Given the description of an element on the screen output the (x, y) to click on. 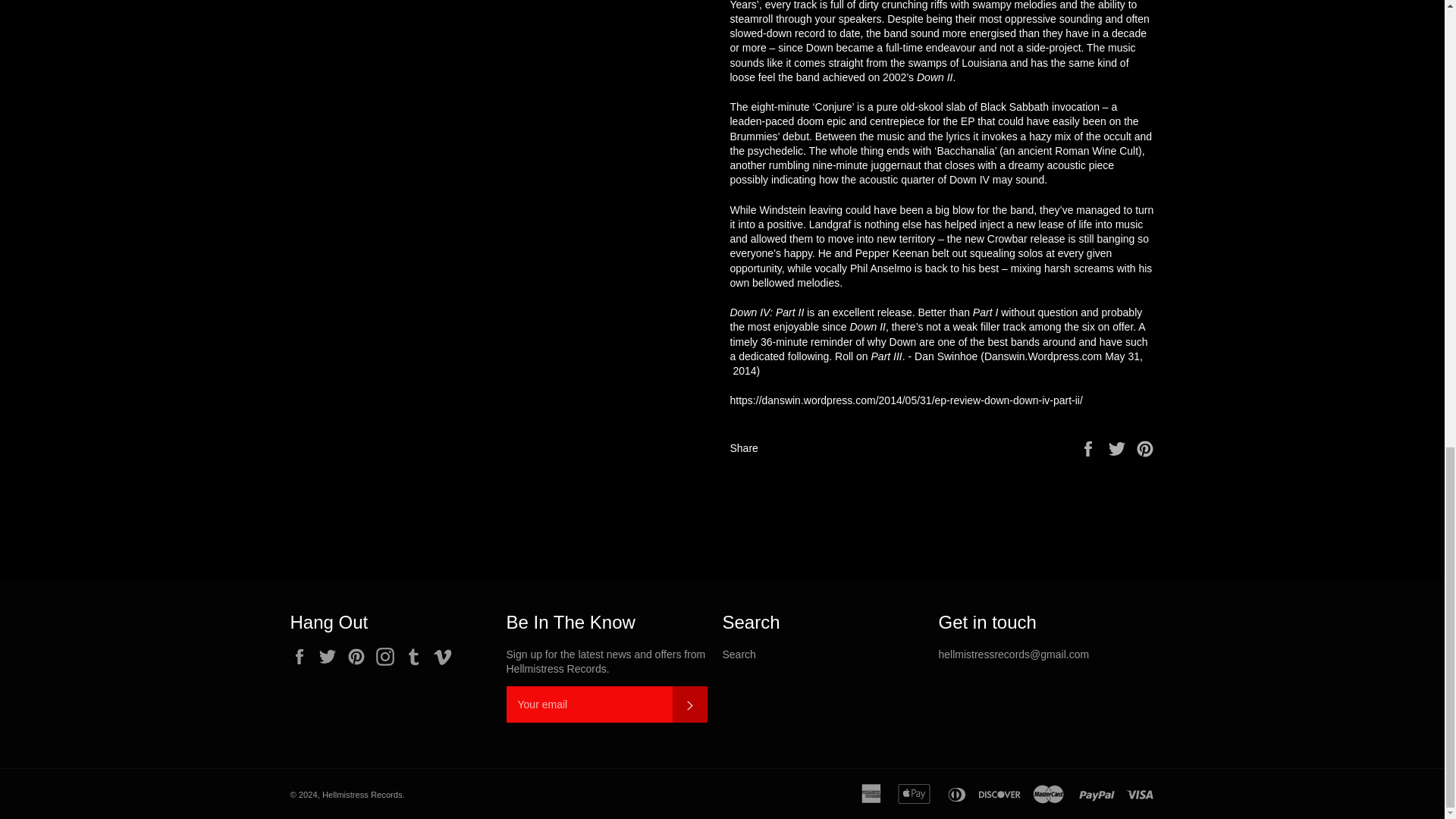
Pin on Pinterest (1144, 447)
Hellmistress Records on Facebook (302, 656)
Hellmistress Records on Tumblr (417, 656)
Share on Facebook (1089, 447)
Hellmistress Records on Twitter (330, 656)
Hellmistress Records on Pinterest (359, 656)
Hellmistress Records on Instagram (388, 656)
Hellmistress Records on Vimeo (446, 656)
Tweet on Twitter (1118, 447)
